Given the description of an element on the screen output the (x, y) to click on. 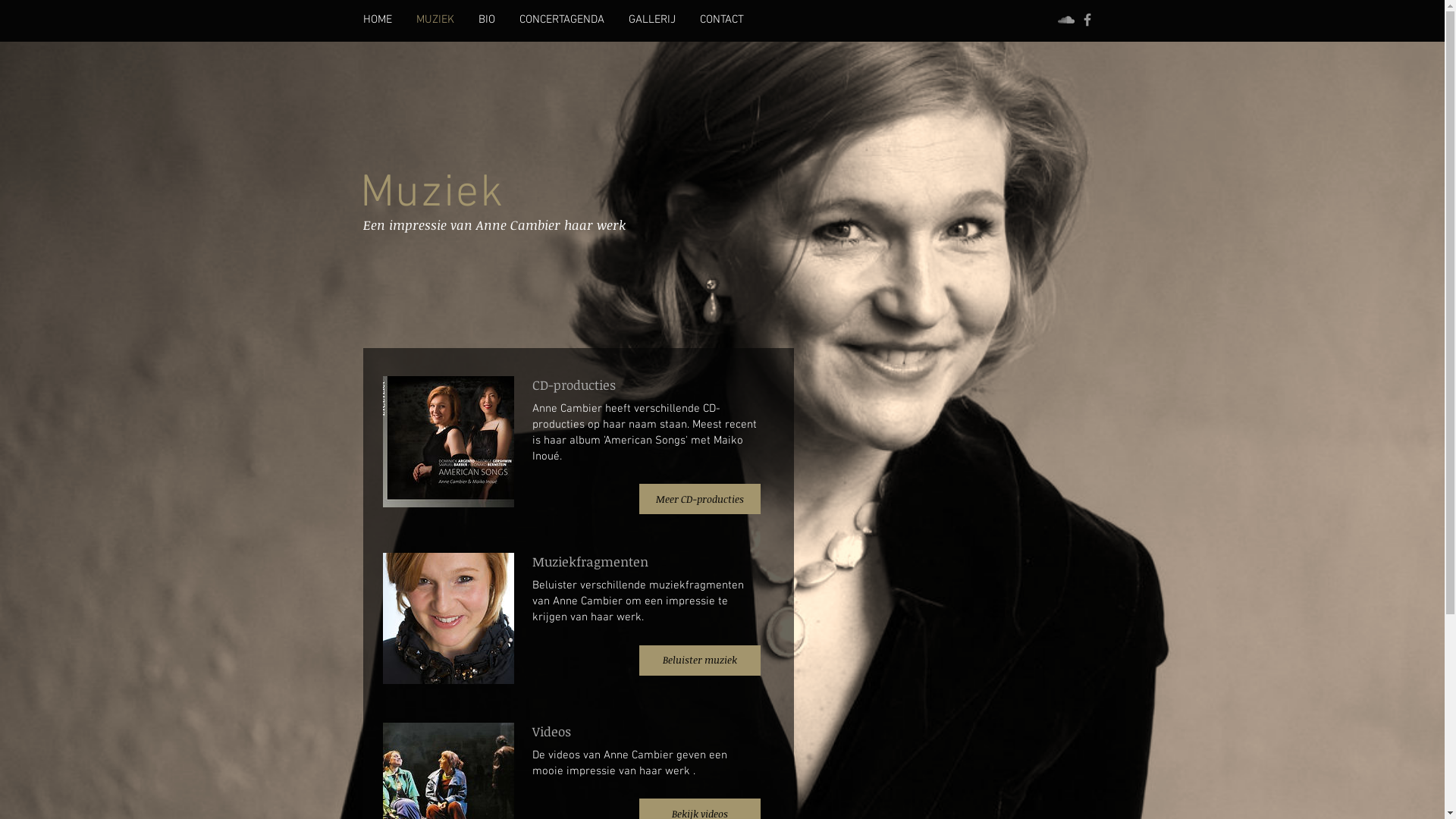
CONTACT Element type: text (721, 19)
American Songs.jpg Element type: hover (447, 441)
BIO Element type: text (485, 19)
CONCERTAGENDA Element type: text (560, 19)
HOME Element type: text (376, 19)
Beluister muziek Element type: text (698, 660)
MUZIEK Element type: text (434, 19)
Anne-Cambier--026.jpg Element type: hover (447, 618)
GALLERIJ Element type: text (651, 19)
Meer CD-producties Element type: text (698, 498)
